Given the description of an element on the screen output the (x, y) to click on. 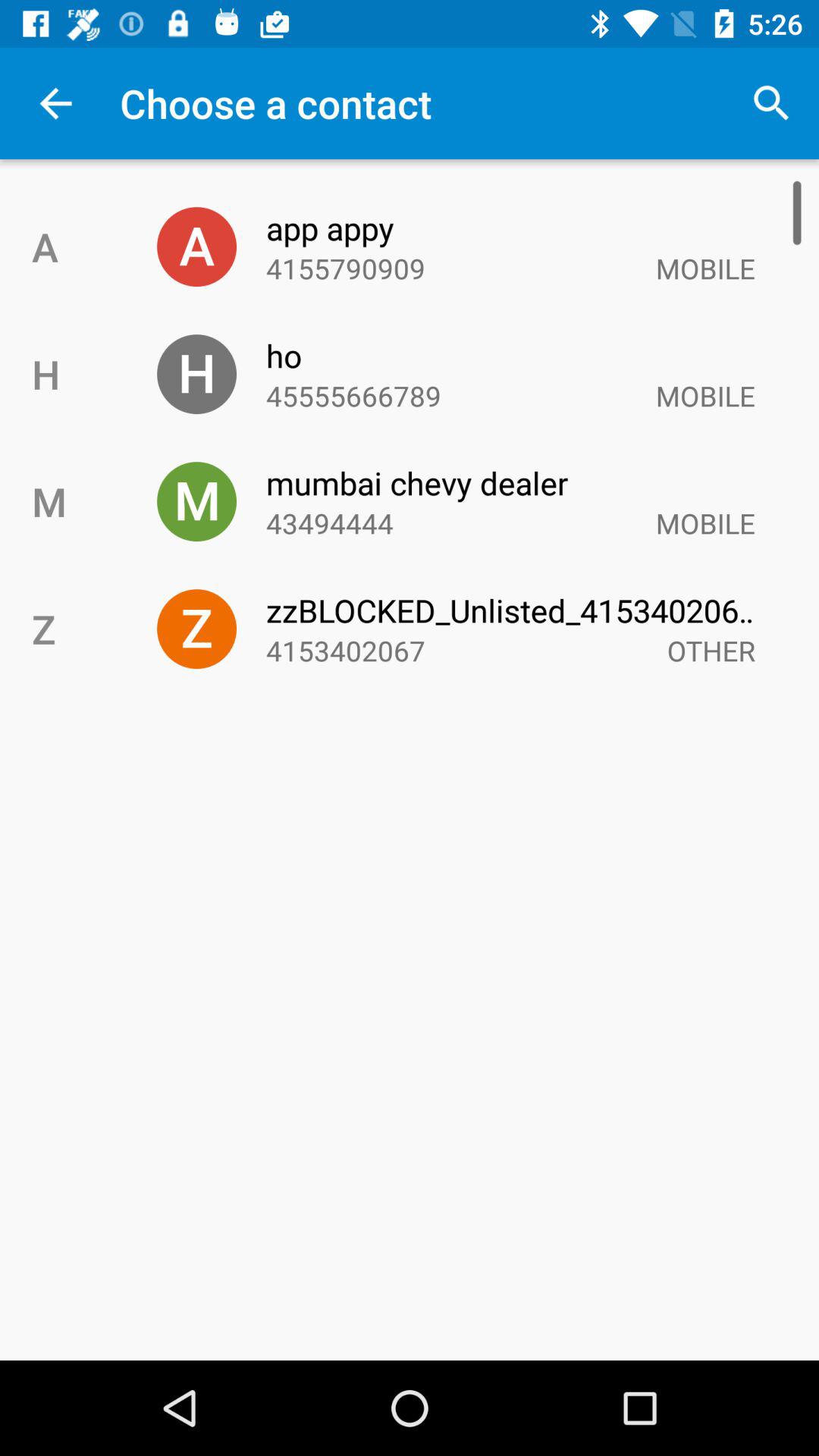
select the icon above a item (55, 103)
